Given the description of an element on the screen output the (x, y) to click on. 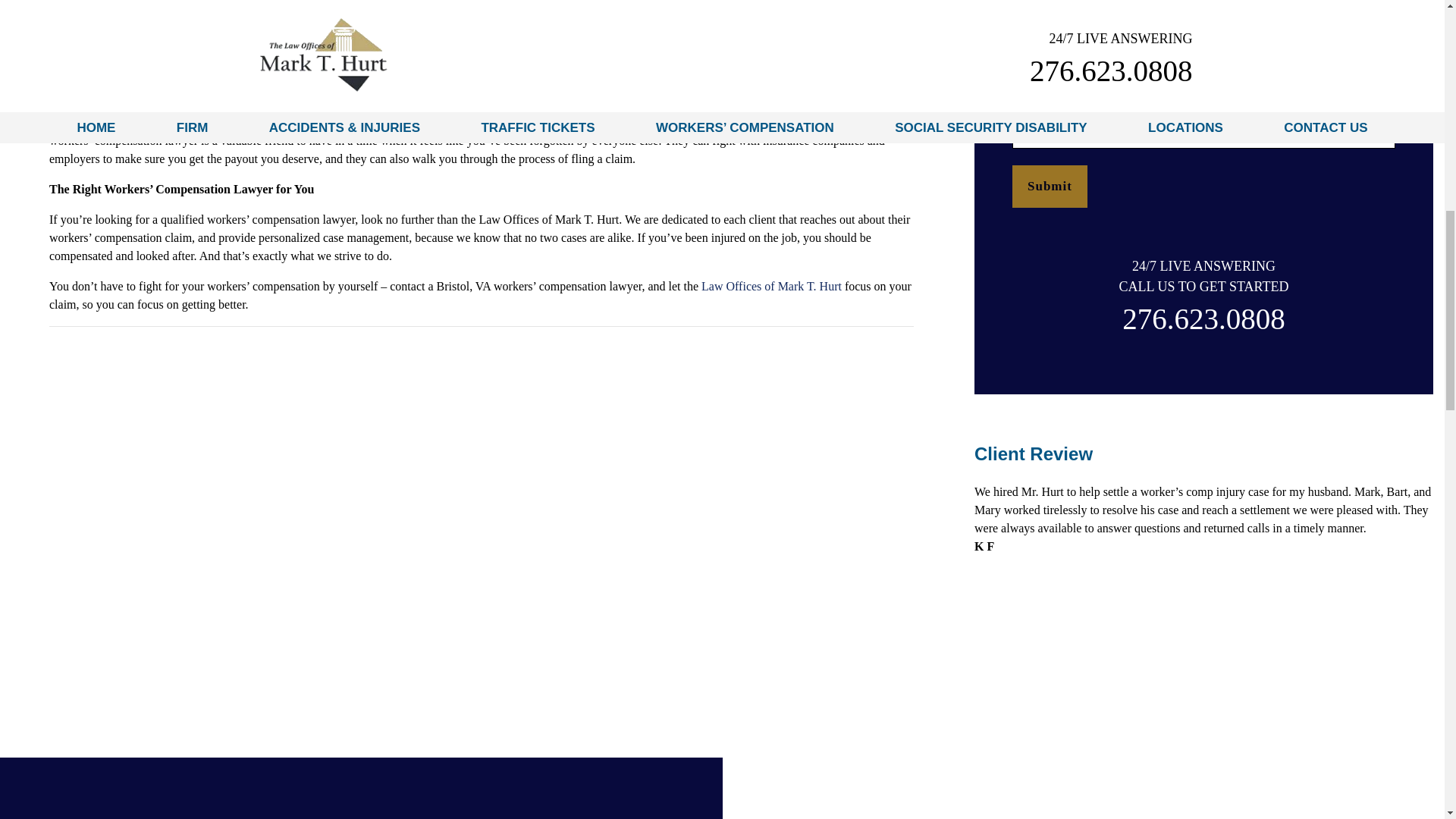
Submit (1049, 186)
